Given the description of an element on the screen output the (x, y) to click on. 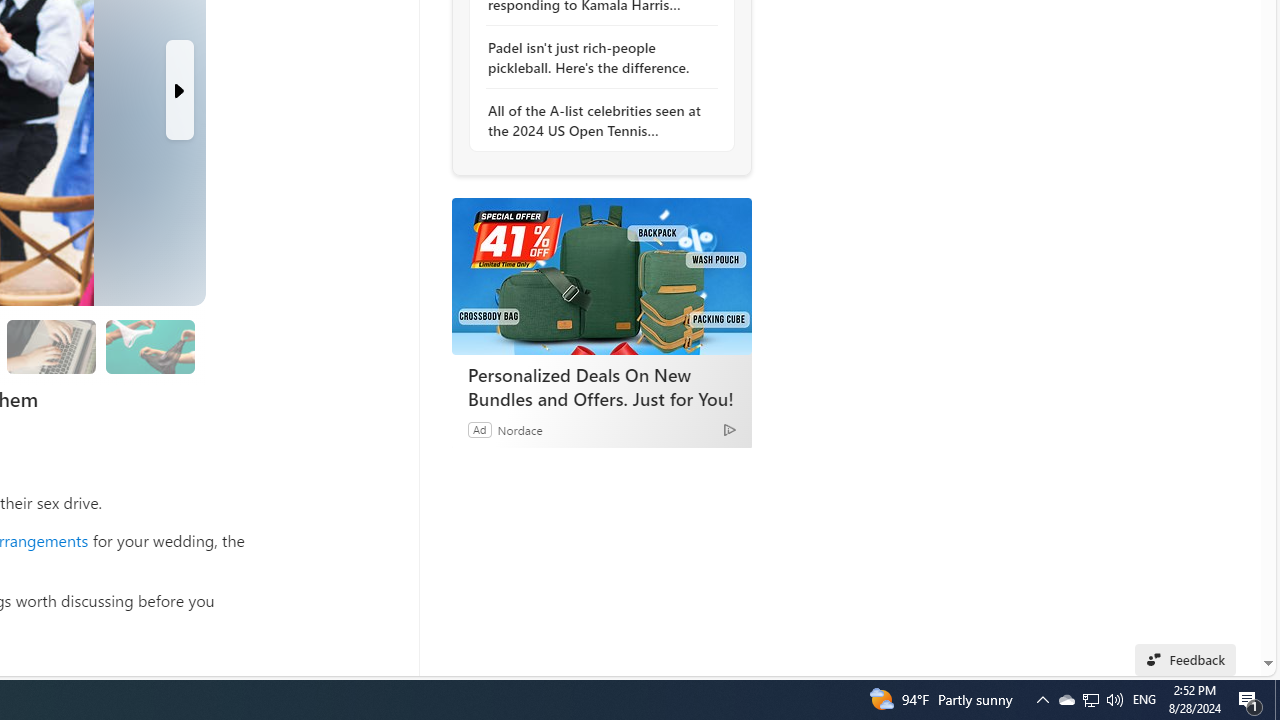
Personalized Deals On New Bundles and Offers. Just for You! (601, 276)
How important is sex to you? (150, 346)
Personalized Deals On New Bundles and Offers. Just for You! (601, 386)
Class: progress (149, 343)
Next Slide (179, 89)
How important is sex to you? (149, 346)
